Given the description of an element on the screen output the (x, y) to click on. 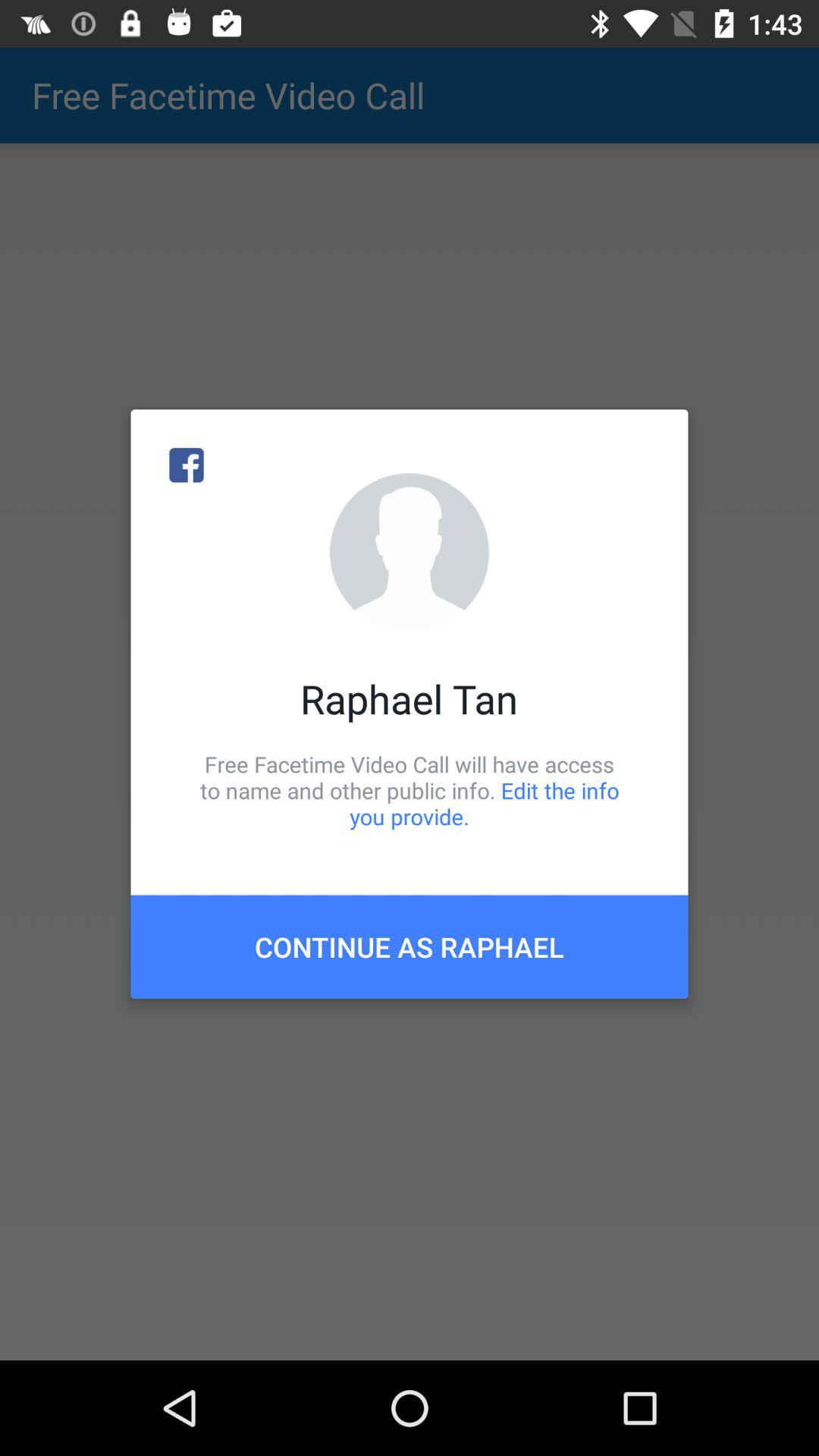
select the item below the free facetime video item (409, 946)
